Given the description of an element on the screen output the (x, y) to click on. 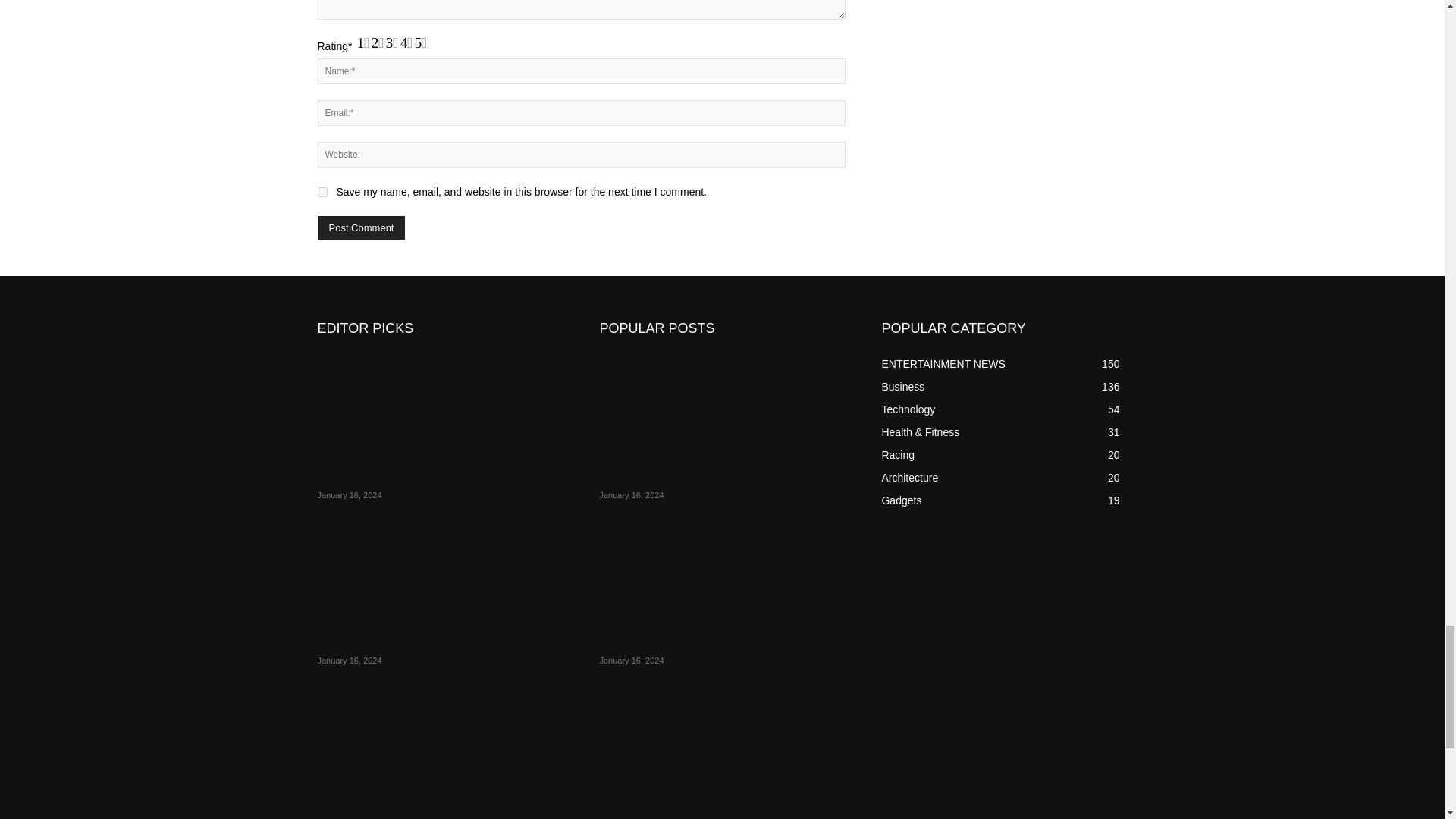
Post Comment (360, 227)
yes (321, 192)
